Given the description of an element on the screen output the (x, y) to click on. 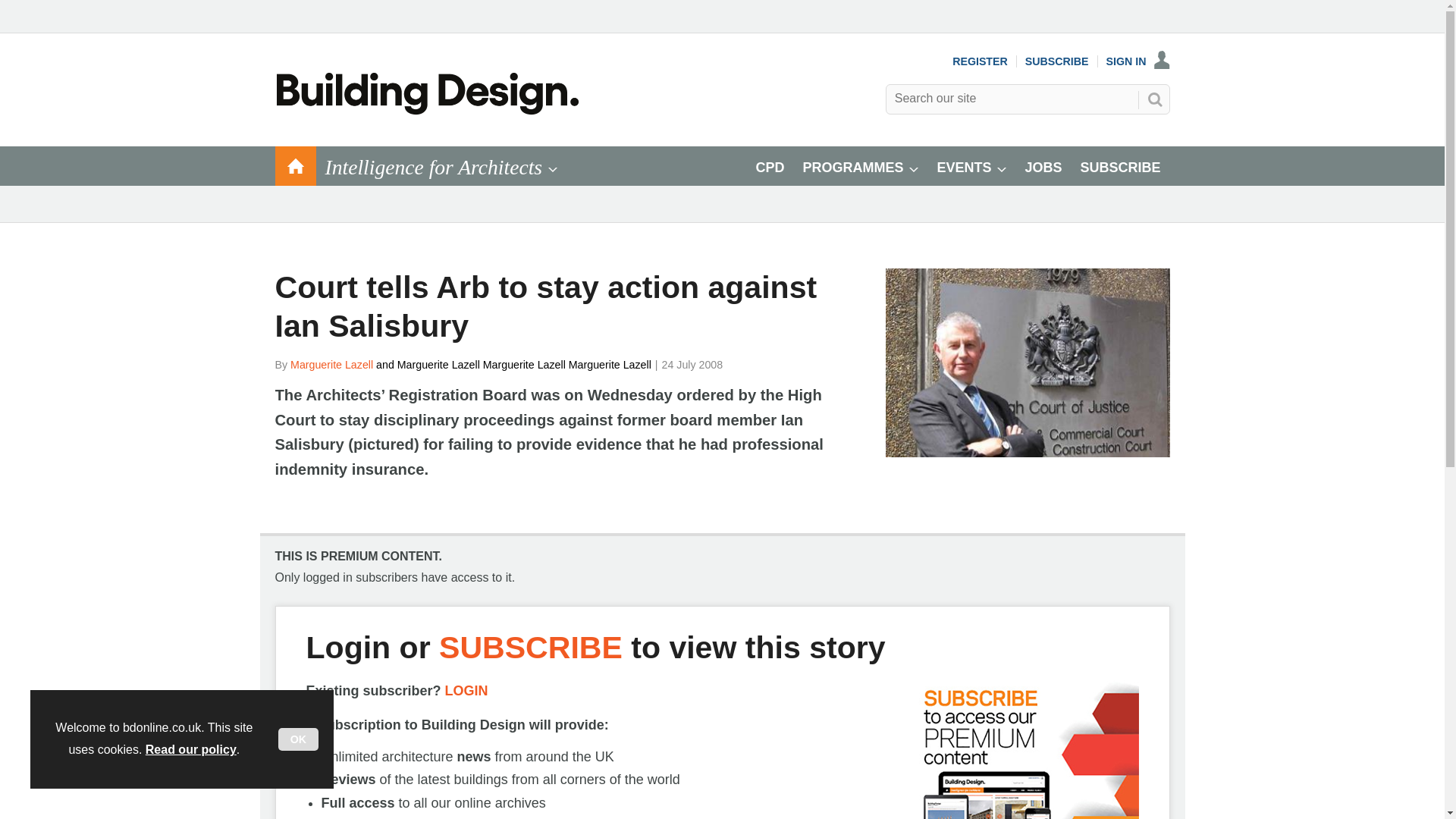
SIGN IN (1138, 61)
REGISTER (979, 61)
SEARCH (1153, 98)
Read our policy (190, 748)
SUBSCRIBE (1057, 61)
OK (298, 739)
